Given the description of an element on the screen output the (x, y) to click on. 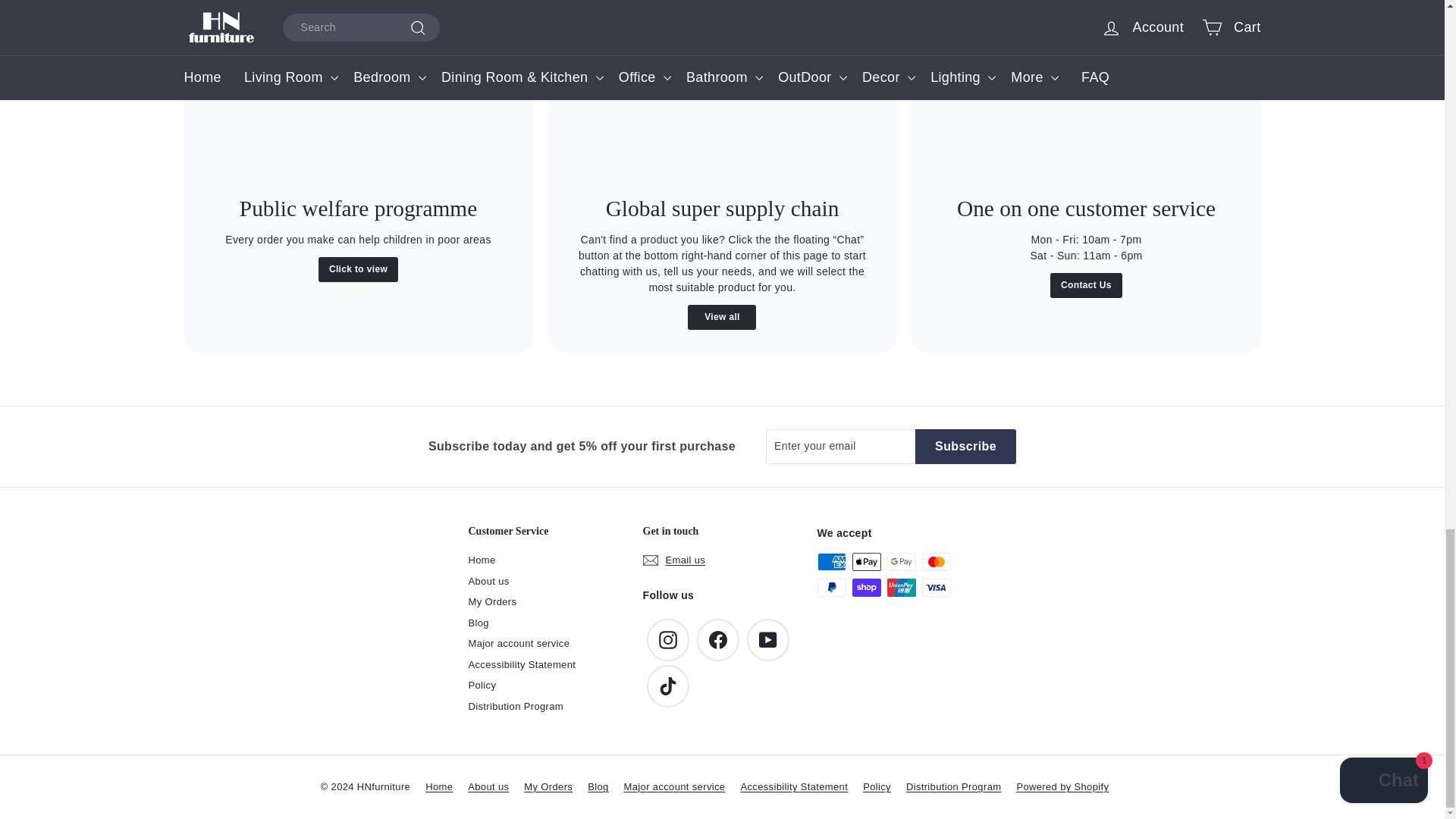
HNfurniture on YouTube (767, 639)
HNfurniture on Instagram (667, 639)
HNfurniture on TikTok (667, 686)
HNfurniture on Facebook (716, 639)
